Given the description of an element on the screen output the (x, y) to click on. 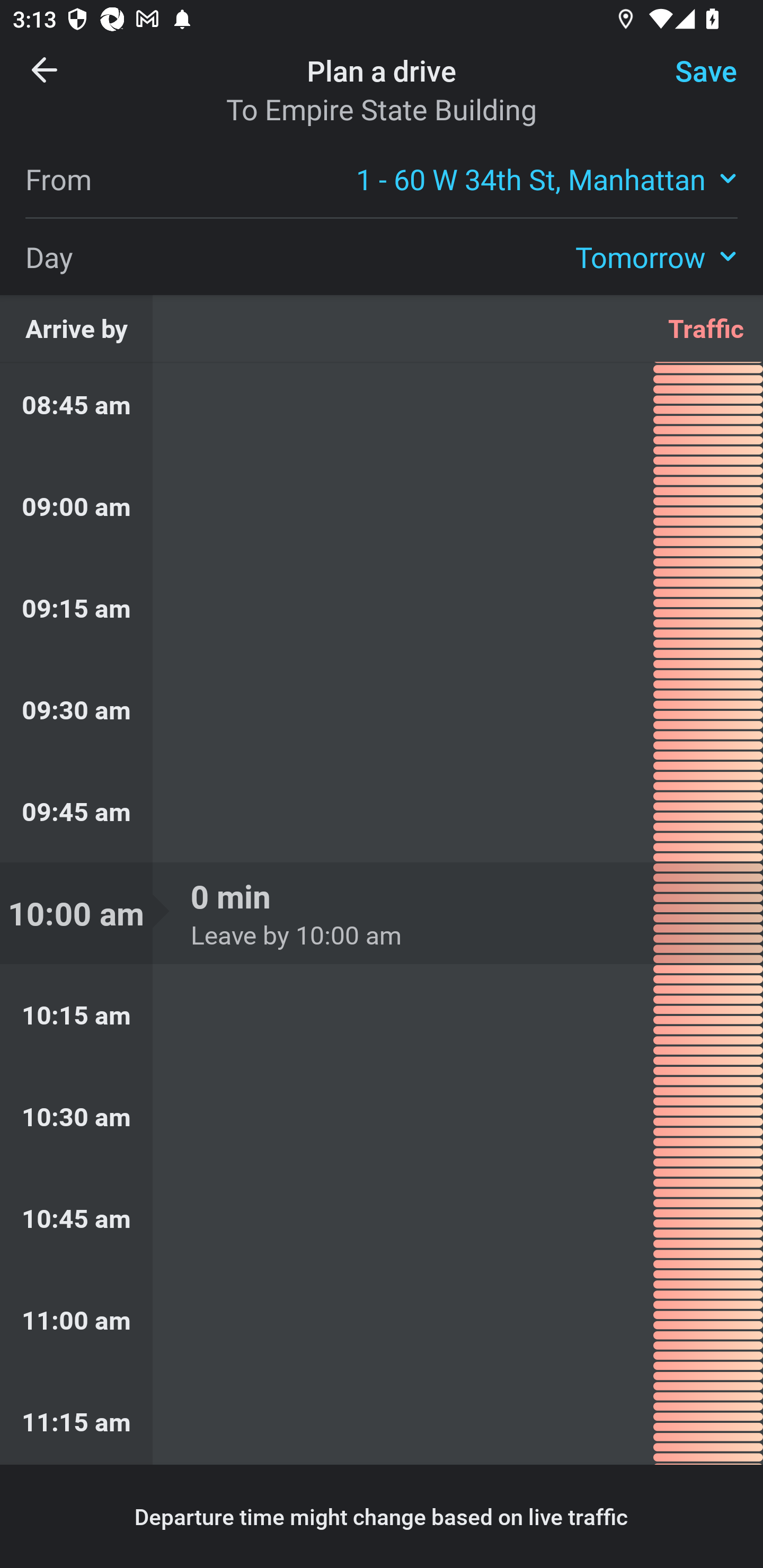
Settings (690, 82)
1 - 60 W 34th St, Manhattan (546, 178)
Tomorrow (656, 255)
08:45 am (381, 409)
09:00 am (381, 506)
09:15 am (381, 607)
09:30 am (381, 709)
10:00 am 0 min Leave by 10:00 am (381, 913)
10:15 am (381, 1015)
10:30 am (381, 1117)
10:45 am (381, 1218)
11:00 am (381, 1319)
11:15 am (381, 1417)
